Given the description of an element on the screen output the (x, y) to click on. 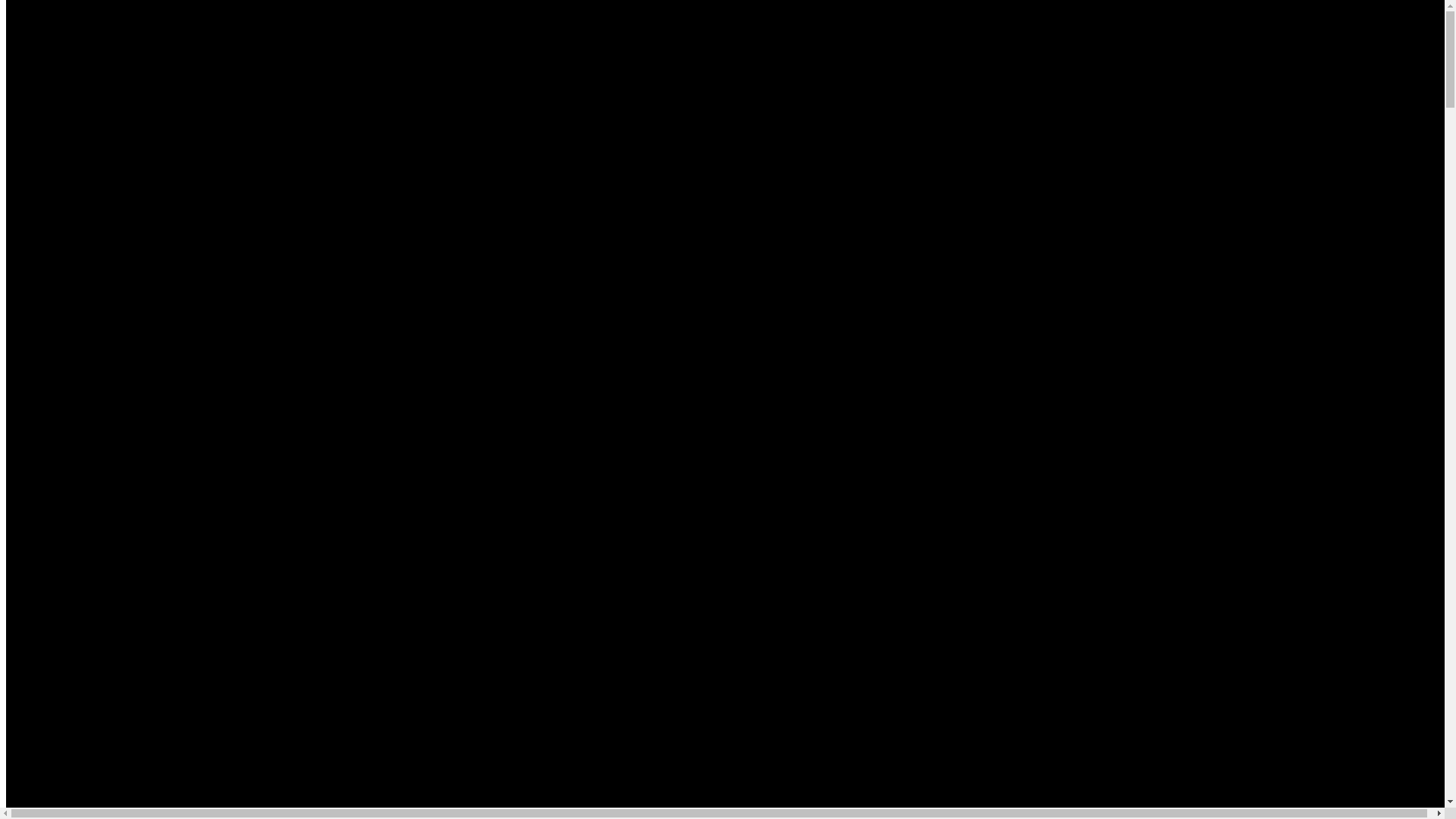
astro Element type: text (78, 602)
shooting Element type: text (57, 738)
KONTAKT Element type: text (44, 769)
theater Element type: text (83, 680)
theater Element type: text (295, 215)
natur Element type: text (78, 583)
landschaft Element type: text (304, 157)
hochzeit Element type: text (299, 176)
Zum Inhalt springen Element type: text (55, 12)
portraits Element type: text (86, 563)
Bildinspiration.ch Element type: hover (112, 235)
tiere Element type: text (289, 196)
astro Element type: text (290, 137)
tiere Element type: text (76, 660)
landschaft Element type: text (91, 621)
home Element type: text (49, 505)
produkte Element type: text (300, 235)
portfolio Element type: text (149, 536)
portfolio Element type: text (288, 72)
produkte Element type: text (87, 699)
portraits Element type: text (299, 99)
natur Element type: text (291, 118)
hochzeit Element type: text (86, 641)
Bildinspiration.ch Element type: hover (112, 458)
home Element type: text (262, 40)
shooting Element type: text (269, 273)
KONTAKT Element type: text (256, 305)
